Given the description of an element on the screen output the (x, y) to click on. 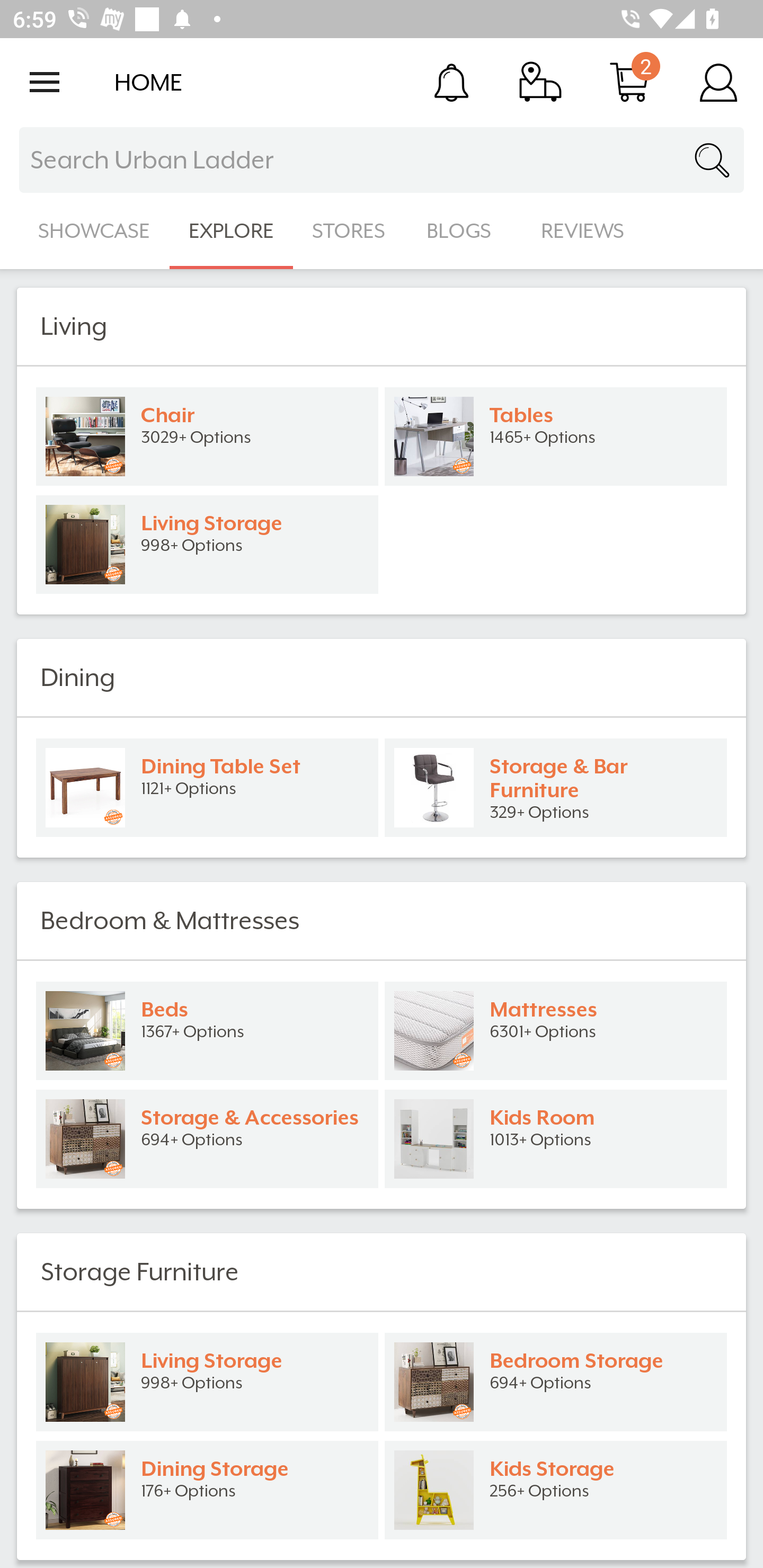
Open navigation drawer (44, 82)
Notification (450, 81)
Track Order (540, 81)
Cart (629, 81)
Account Details (718, 81)
Search Urban Ladder  (381, 159)
SHOWCASE (94, 230)
EXPLORE (230, 230)
STORES (349, 230)
BLOGS (464, 230)
REVIEWS (582, 230)
Chair 3029+ Options (206, 436)
Tables 1465+ Options (555, 436)
Living Storage 998+ Options (206, 544)
Dining Table Set 1121+ Options (206, 787)
Storage & Bar Furniture 329+ Options (555, 787)
Beds 1367+ Options (206, 1030)
Mattresses 6301+ Options (555, 1030)
Storage & Accessories 694+ Options (206, 1139)
Kids Room 1013+ Options (555, 1139)
Living Storage 998+ Options (206, 1382)
Bedroom Storage 694+ Options (555, 1382)
Dining Storage 176+ Options (206, 1490)
Kids Storage 256+ Options (555, 1490)
